Given the description of an element on the screen output the (x, y) to click on. 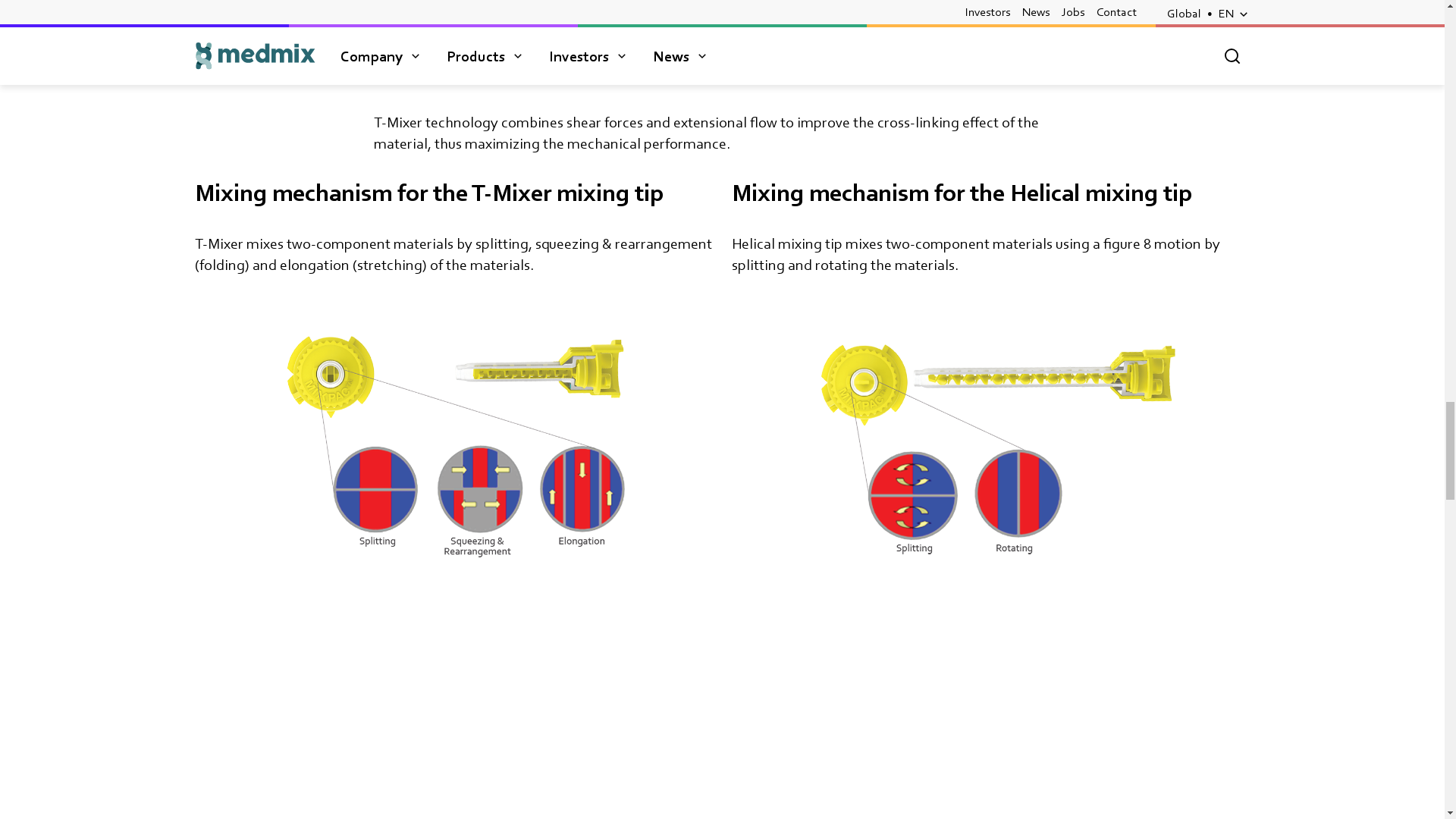
Mixing mechanism for the T-Mixer mixing tip (453, 723)
Mixing mechanism for the Helical mixing tip (989, 723)
